Given the description of an element on the screen output the (x, y) to click on. 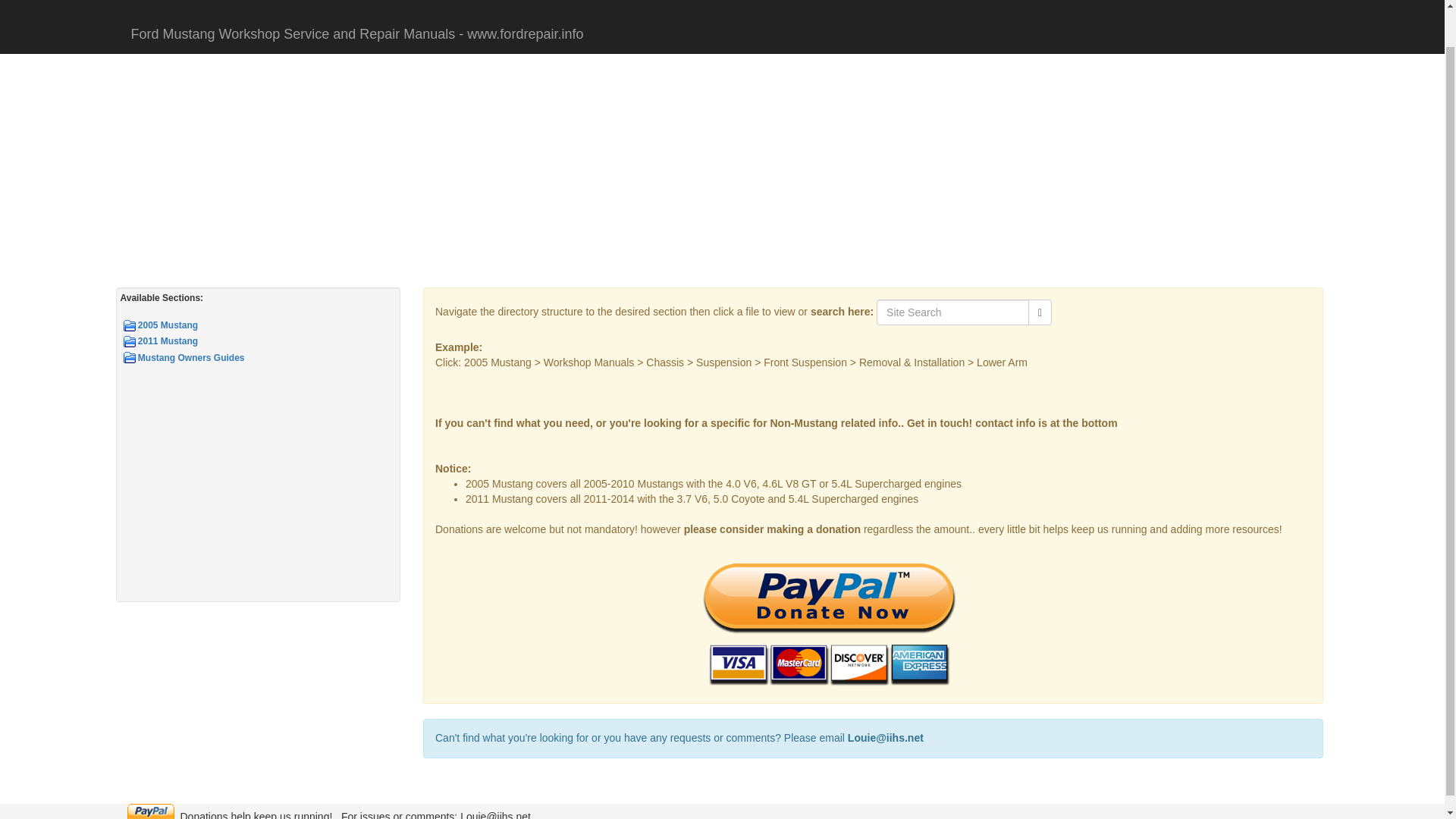
Home (139, 30)
2011 Mustang (265, 341)
Mustang Owners Guides (265, 358)
2005 Mustang (265, 325)
Advertisement (257, 490)
Home (139, 30)
